Given the description of an element on the screen output the (x, y) to click on. 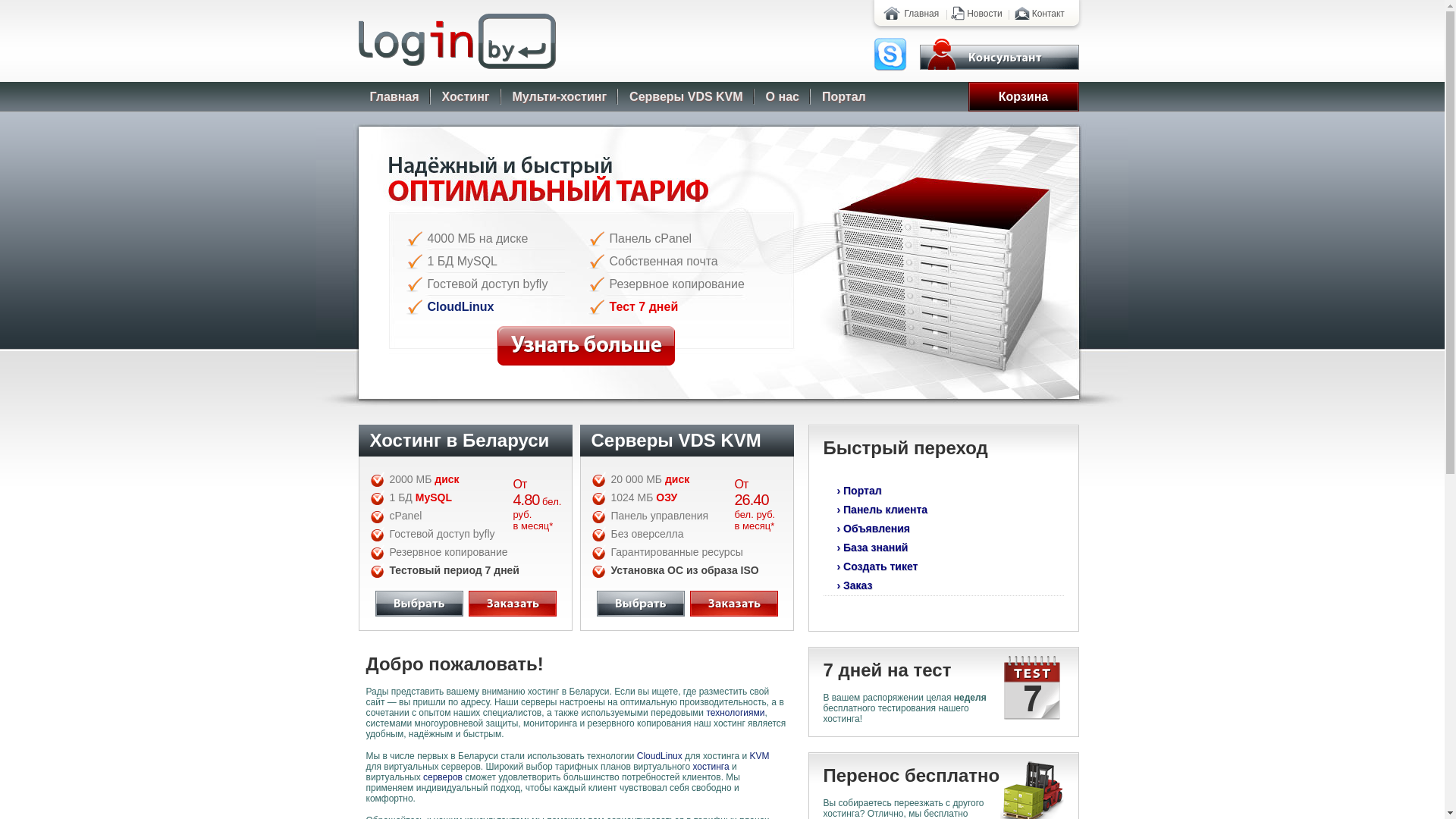
CloudLinux Element type: text (659, 755)
KVM Element type: text (758, 755)
CloudLinux Element type: text (460, 306)
